Given the description of an element on the screen output the (x, y) to click on. 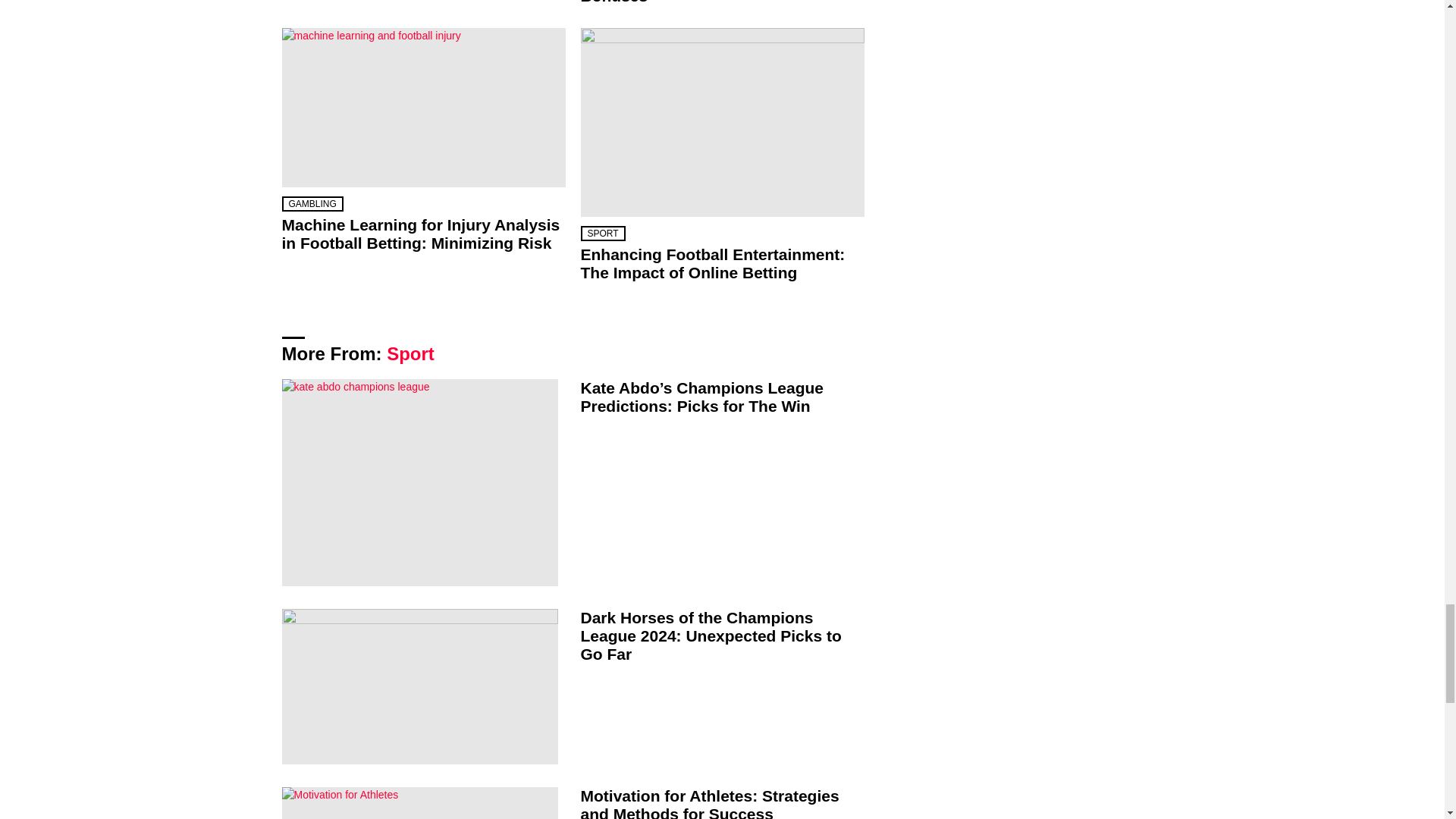
Motivation for Athletes: Strategies and Methods for Success (419, 803)
